Given the description of an element on the screen output the (x, y) to click on. 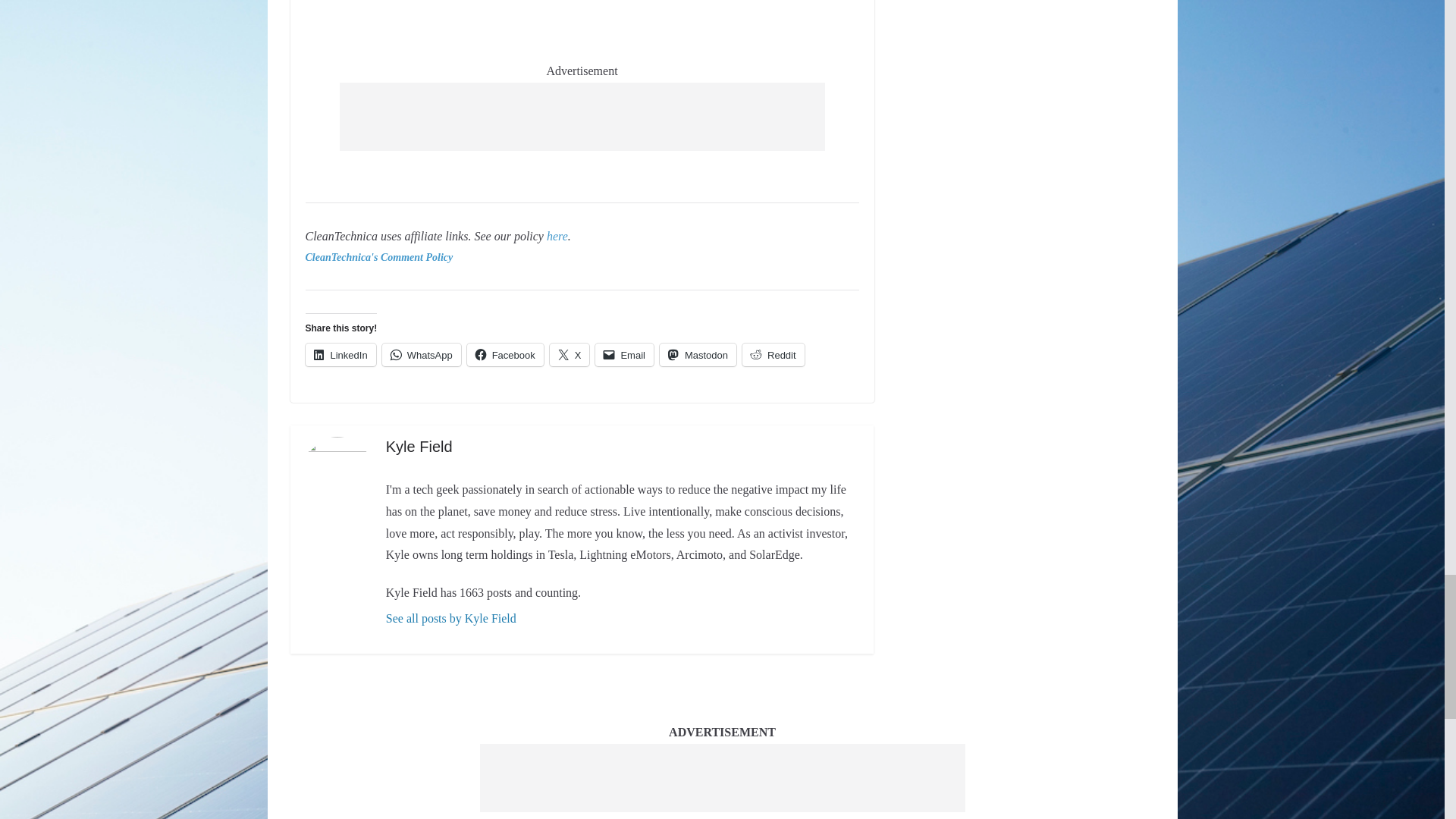
Click to email a link to a friend (624, 354)
Click to share on WhatsApp (421, 354)
Click to share on Mastodon (697, 354)
Click to share on X (569, 354)
Click to share on LinkedIn (339, 354)
Click to share on Facebook (505, 354)
Click to share on Reddit (773, 354)
